Given the description of an element on the screen output the (x, y) to click on. 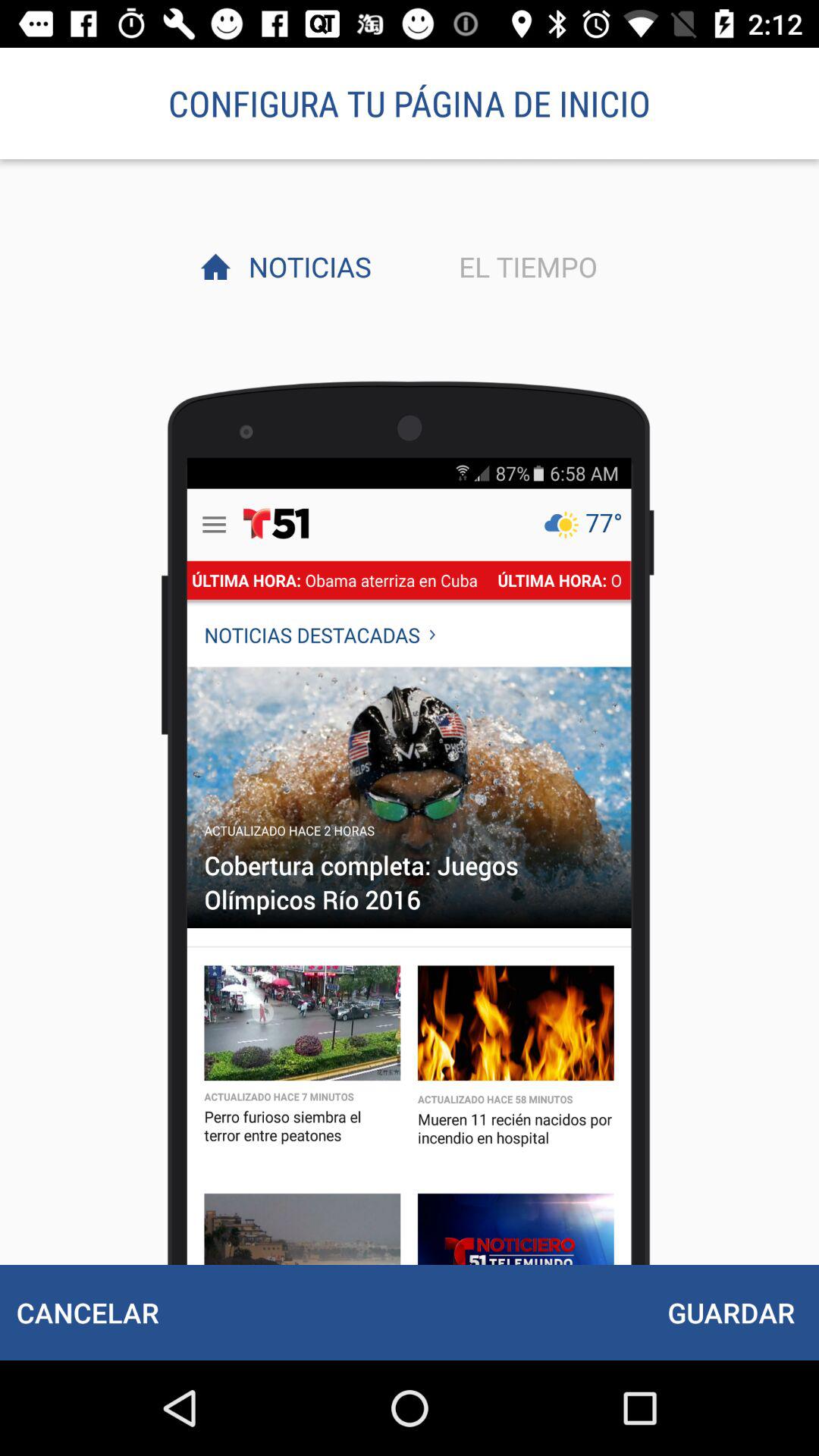
press the el tiempo item (524, 266)
